Given the description of an element on the screen output the (x, y) to click on. 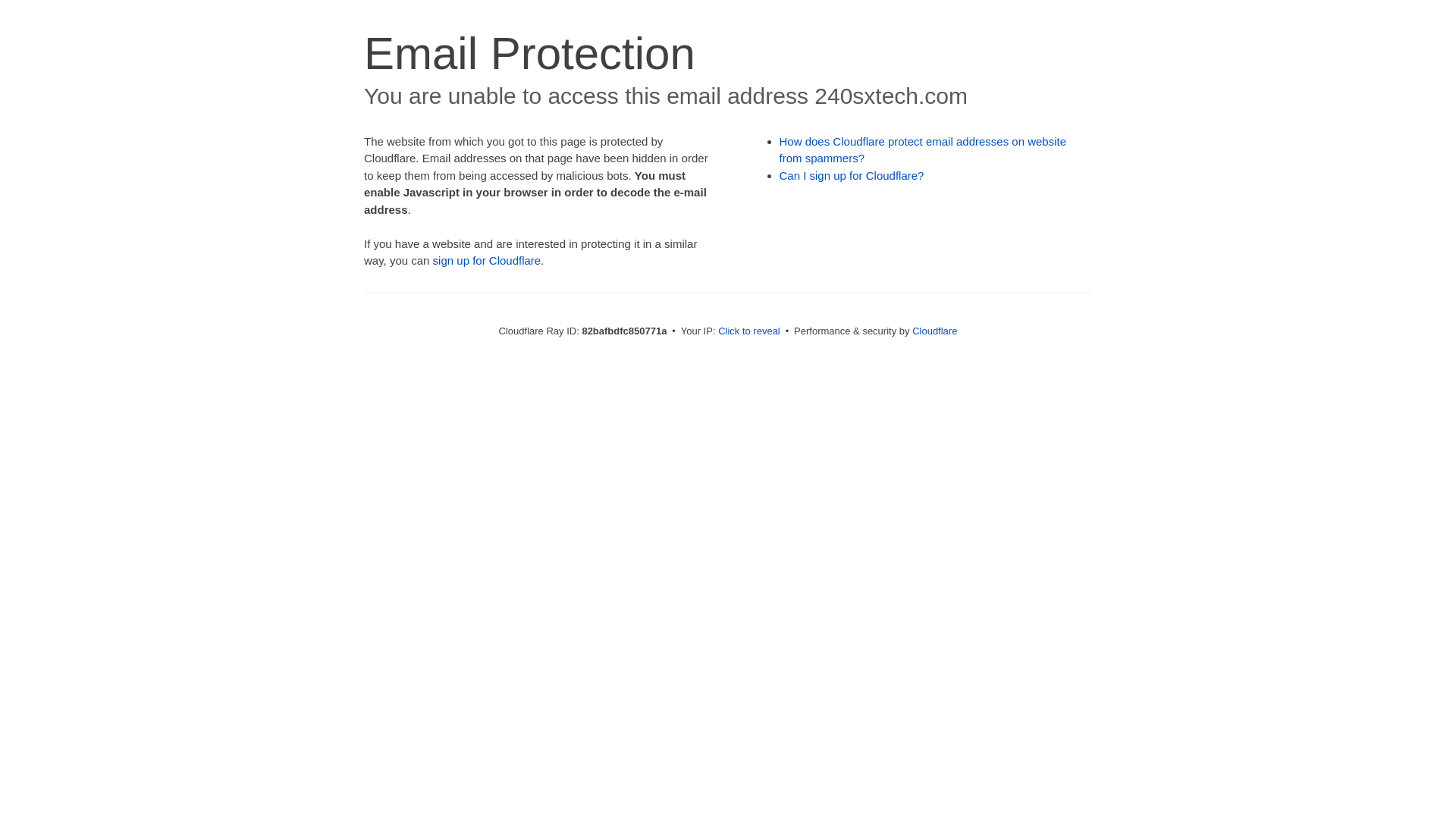
Cloudflare Element type: text (934, 330)
sign up for Cloudflare Element type: text (487, 260)
Click to reveal Element type: text (749, 330)
Can I sign up for Cloudflare? Element type: text (851, 175)
